Given the description of an element on the screen output the (x, y) to click on. 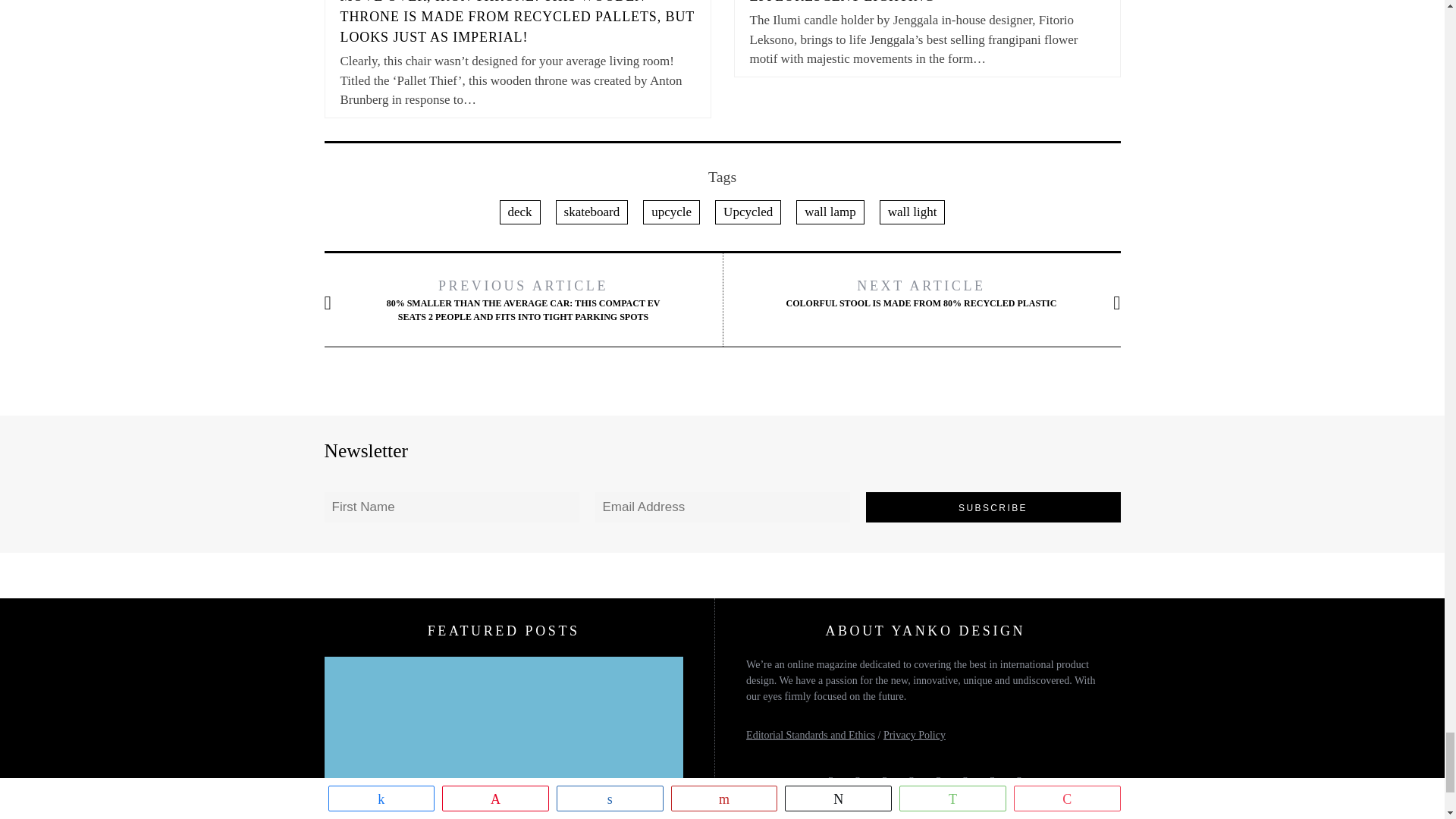
Subscribe (993, 507)
Editorial Standards and Ethics (810, 735)
Privacy Policy (913, 735)
